Given the description of an element on the screen output the (x, y) to click on. 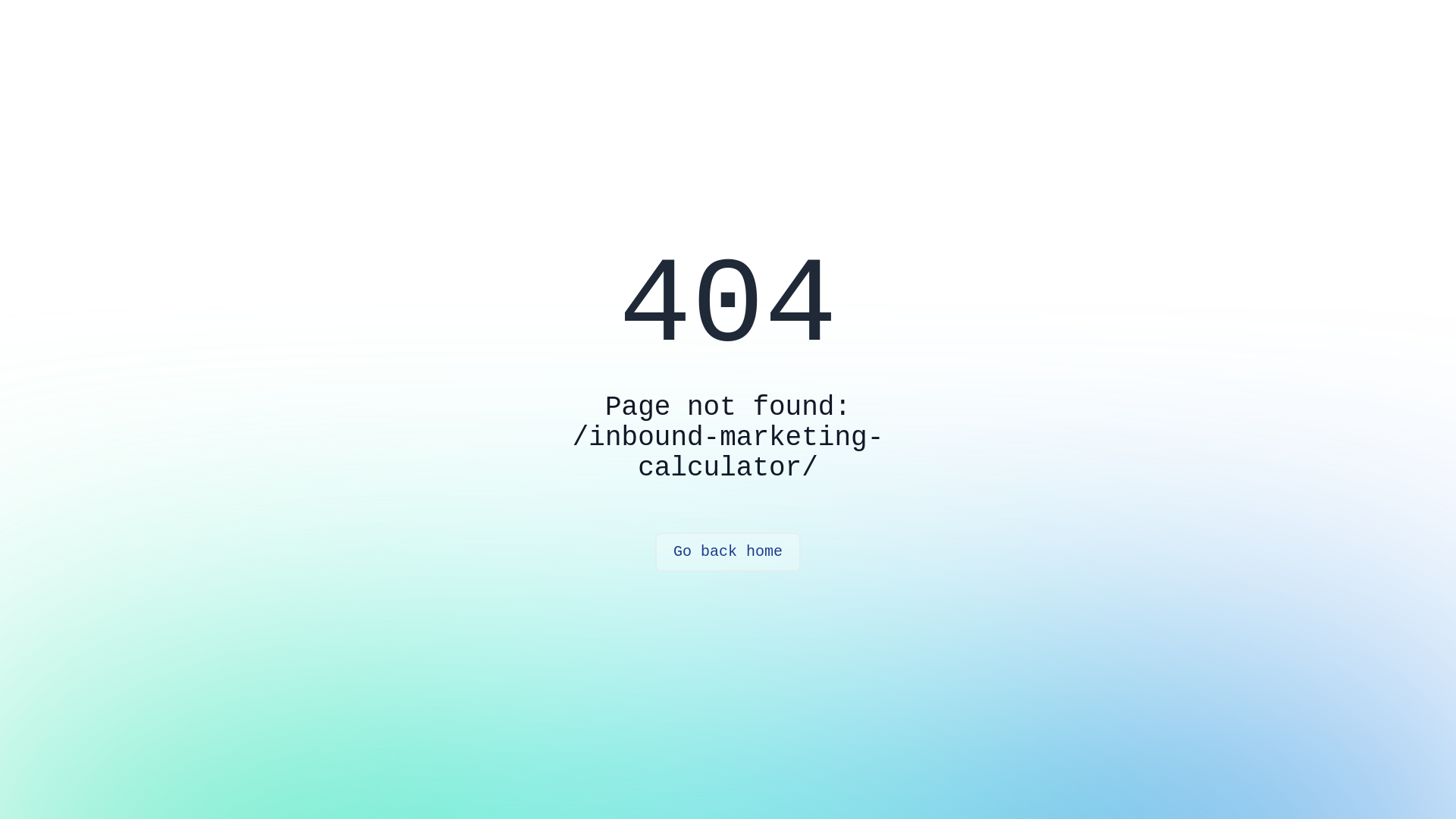
Go back home Element type: text (727, 551)
